Given the description of an element on the screen output the (x, y) to click on. 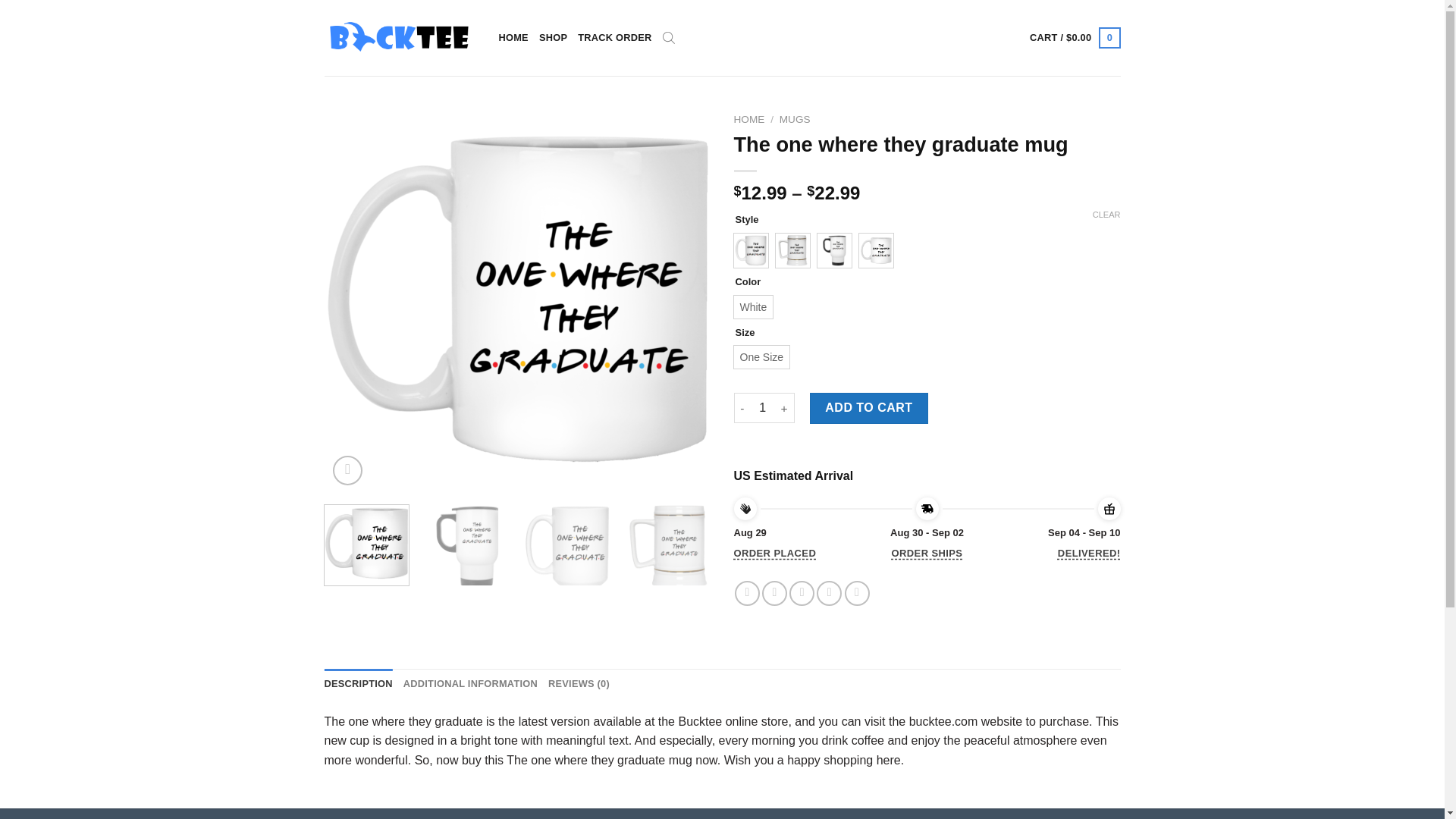
ADDITIONAL INFORMATION (470, 684)
DELIVERED! (1089, 553)
The one where they graduate mug (875, 250)
SHOP (552, 37)
One Size (761, 356)
22217 Beer Stein 22oz. (791, 250)
The one where they graduate mug (792, 250)
Zoom (347, 470)
XP8434 11 oz. White Mug (875, 250)
